Given the description of an element on the screen output the (x, y) to click on. 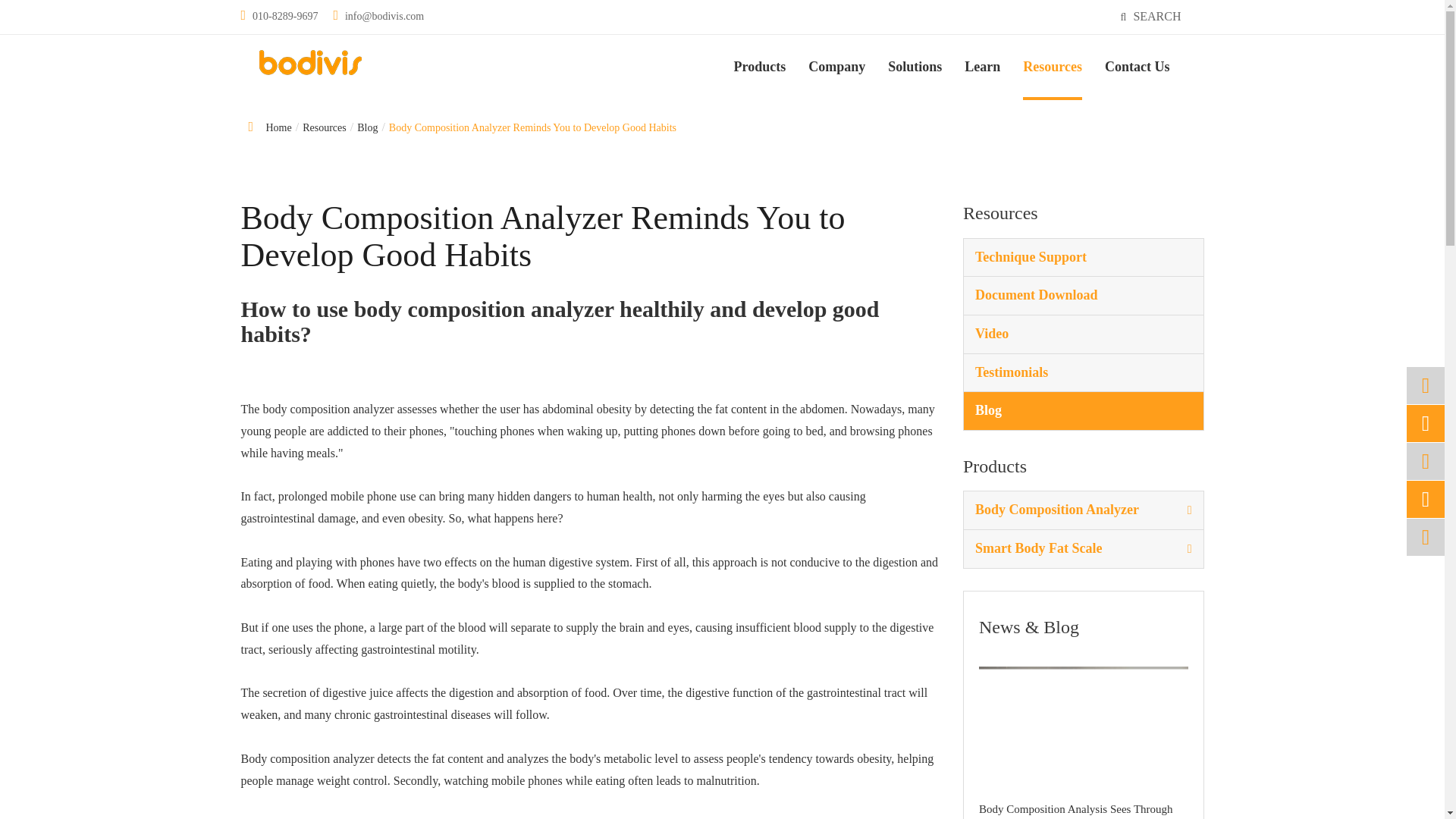
Body Composition Analysis Sees Through Your Figure (1083, 726)
Contact Us (1137, 67)
Blog (366, 127)
Body Composition Analyzer Reminds You to Develop Good Habits (532, 127)
Resources (324, 127)
Resources (1052, 67)
